Given the description of an element on the screen output the (x, y) to click on. 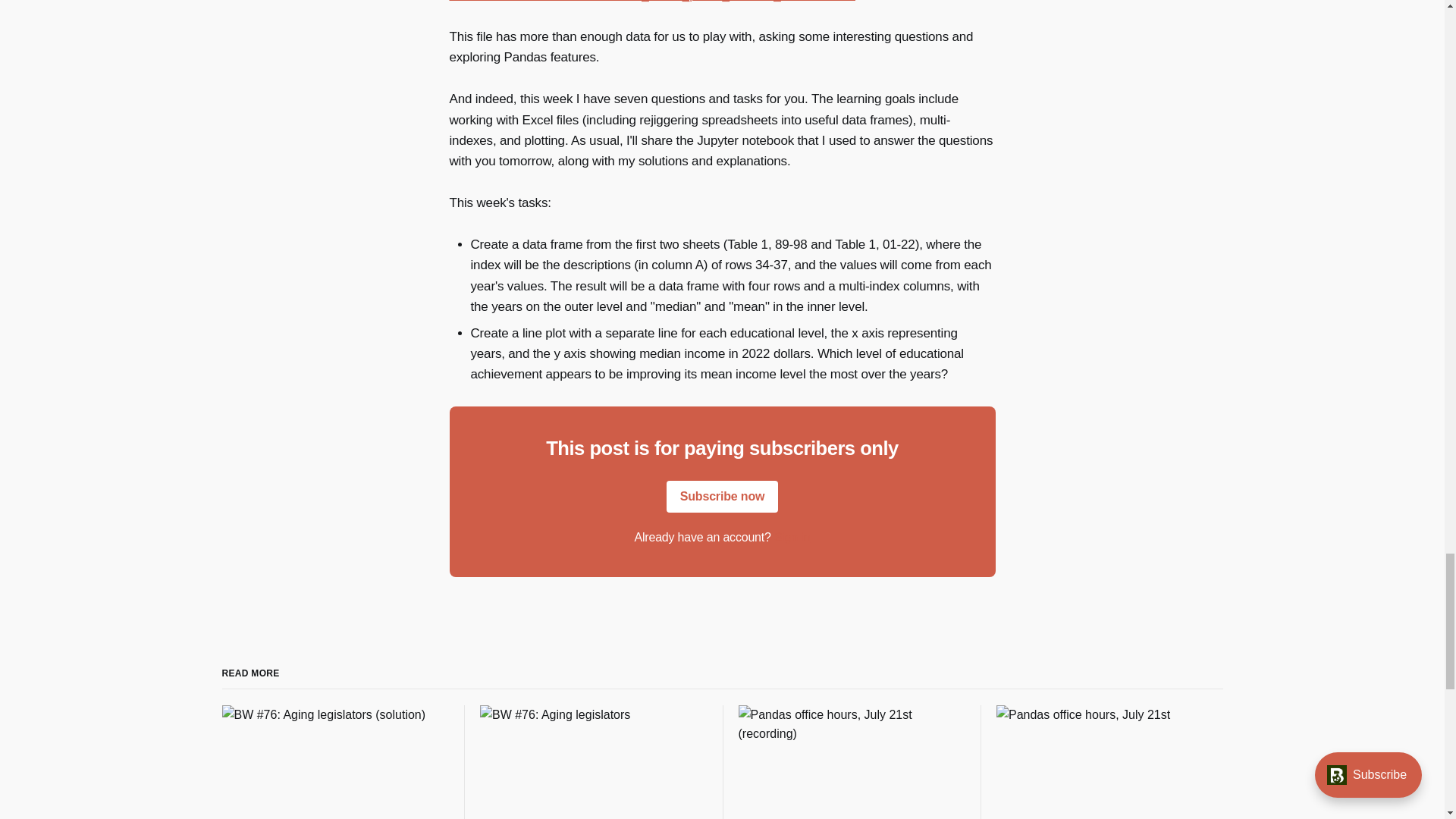
Subscribe now (722, 496)
Sign in (792, 536)
